Given the description of an element on the screen output the (x, y) to click on. 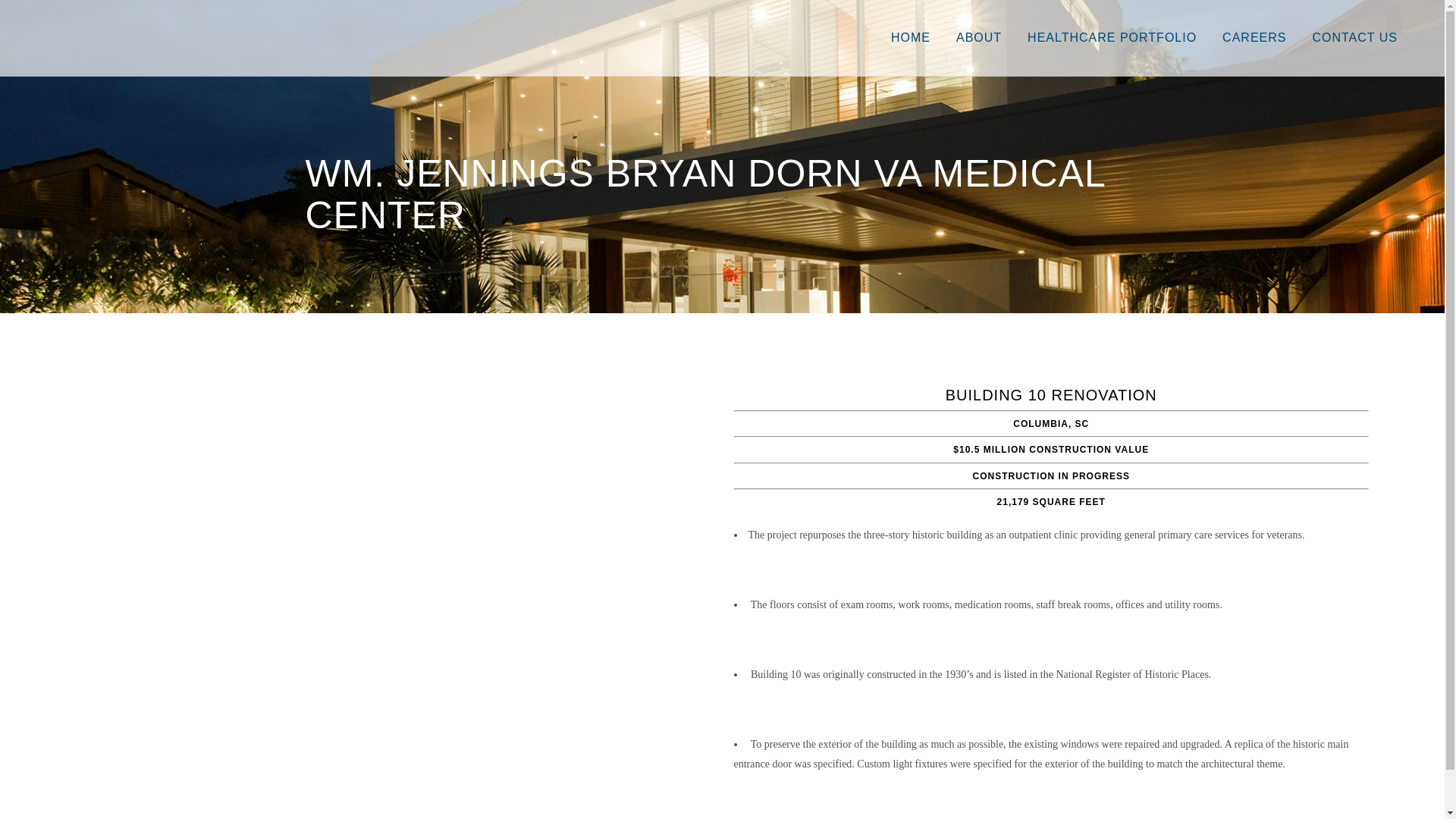
CAREERS (1253, 38)
ABOUT (978, 38)
CONTACT US (1354, 38)
HEALTHCARE PORTFOLIO (1111, 38)
